Given the description of an element on the screen output the (x, y) to click on. 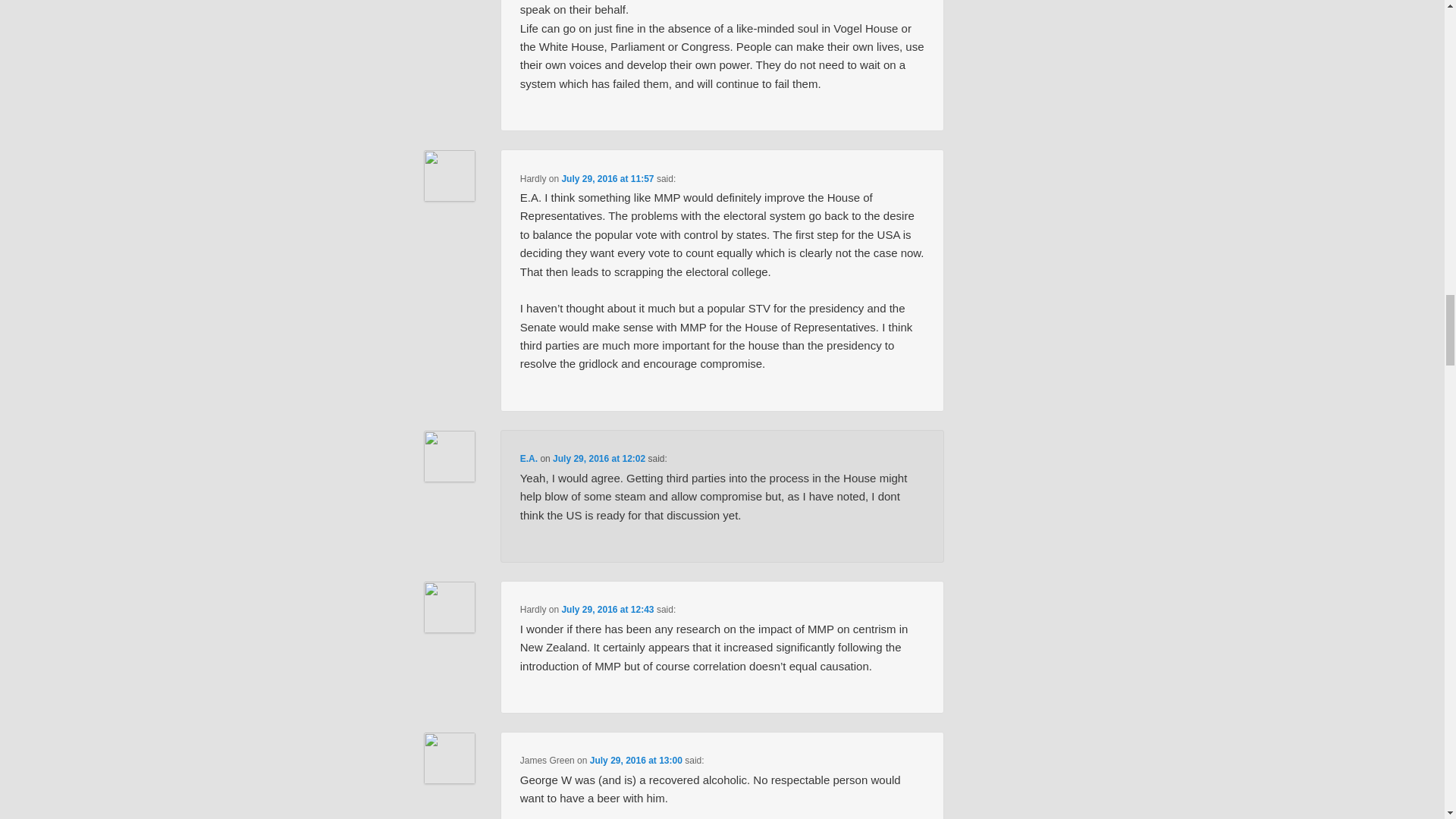
E.A. (528, 458)
July 29, 2016 at 13:00 (635, 760)
July 29, 2016 at 12:02 (599, 458)
July 29, 2016 at 11:57 (606, 178)
July 29, 2016 at 12:43 (606, 609)
